Given the description of an element on the screen output the (x, y) to click on. 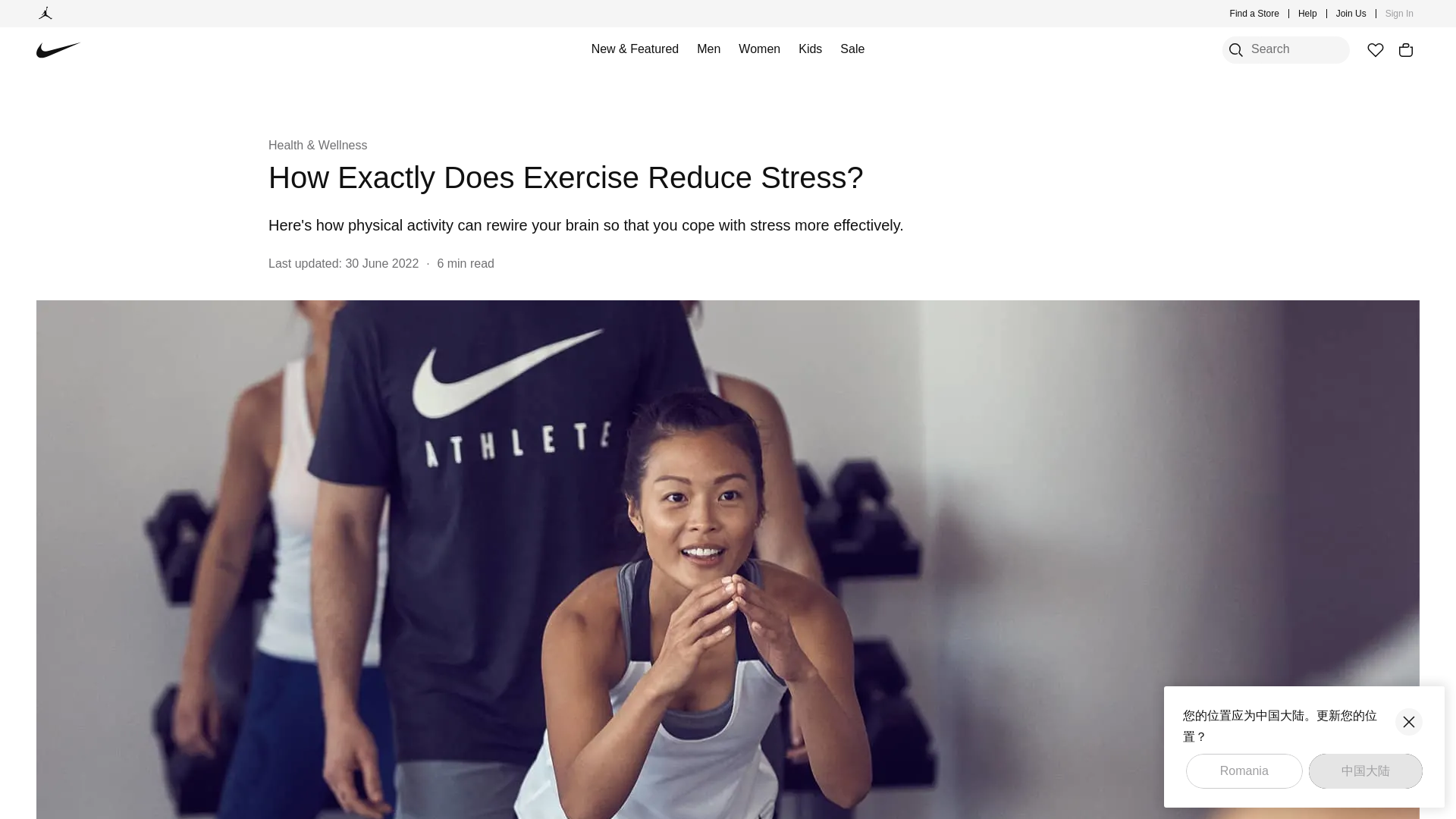
Sign In (1399, 13)
Bag Items: 0 (1405, 49)
Join Us (1351, 13)
Help (1307, 13)
Find a Store (1254, 13)
Favourites (1375, 49)
